Given the description of an element on the screen output the (x, y) to click on. 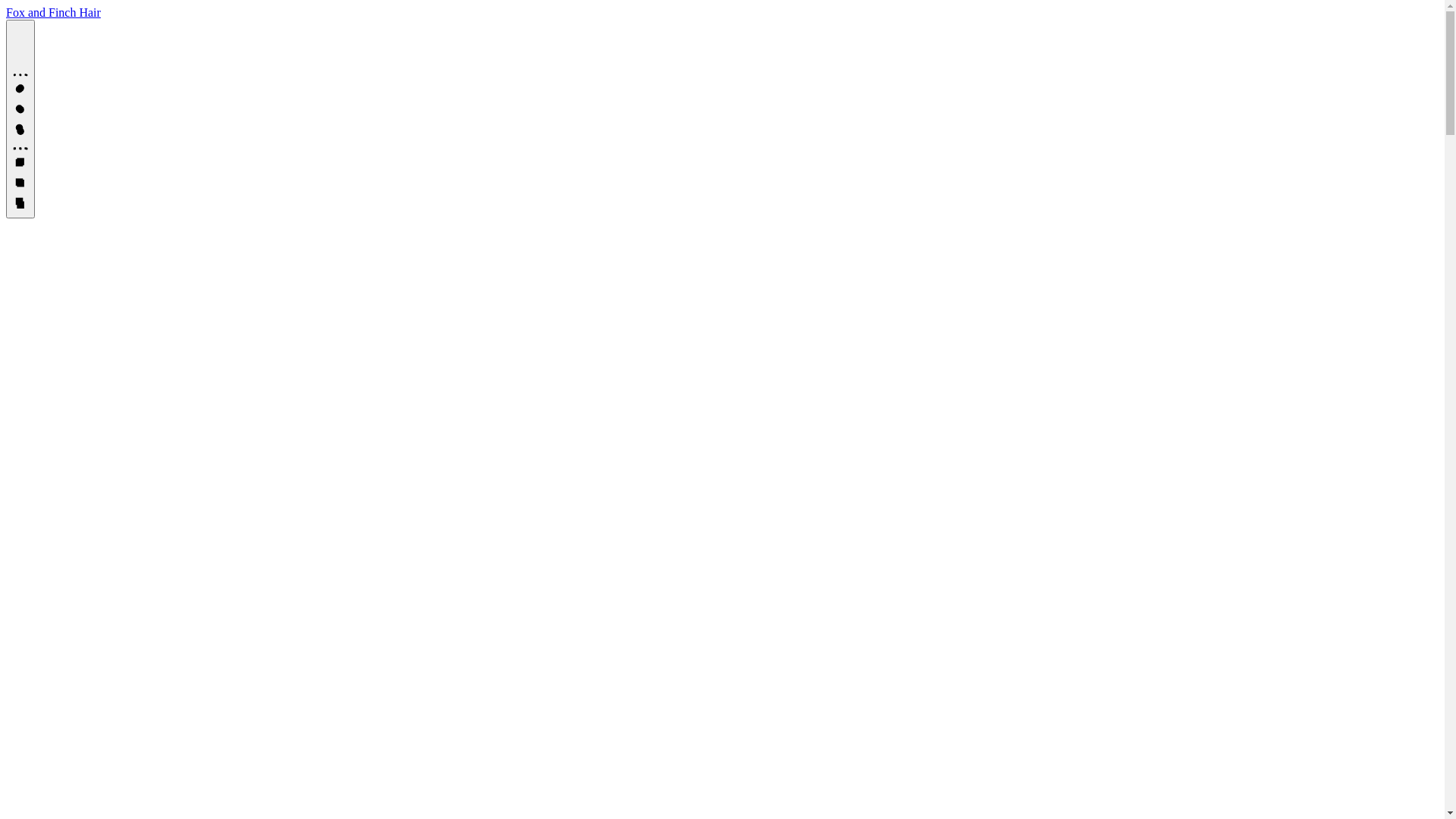
Fox and Finch Hair Element type: text (53, 12)
